Given the description of an element on the screen output the (x, y) to click on. 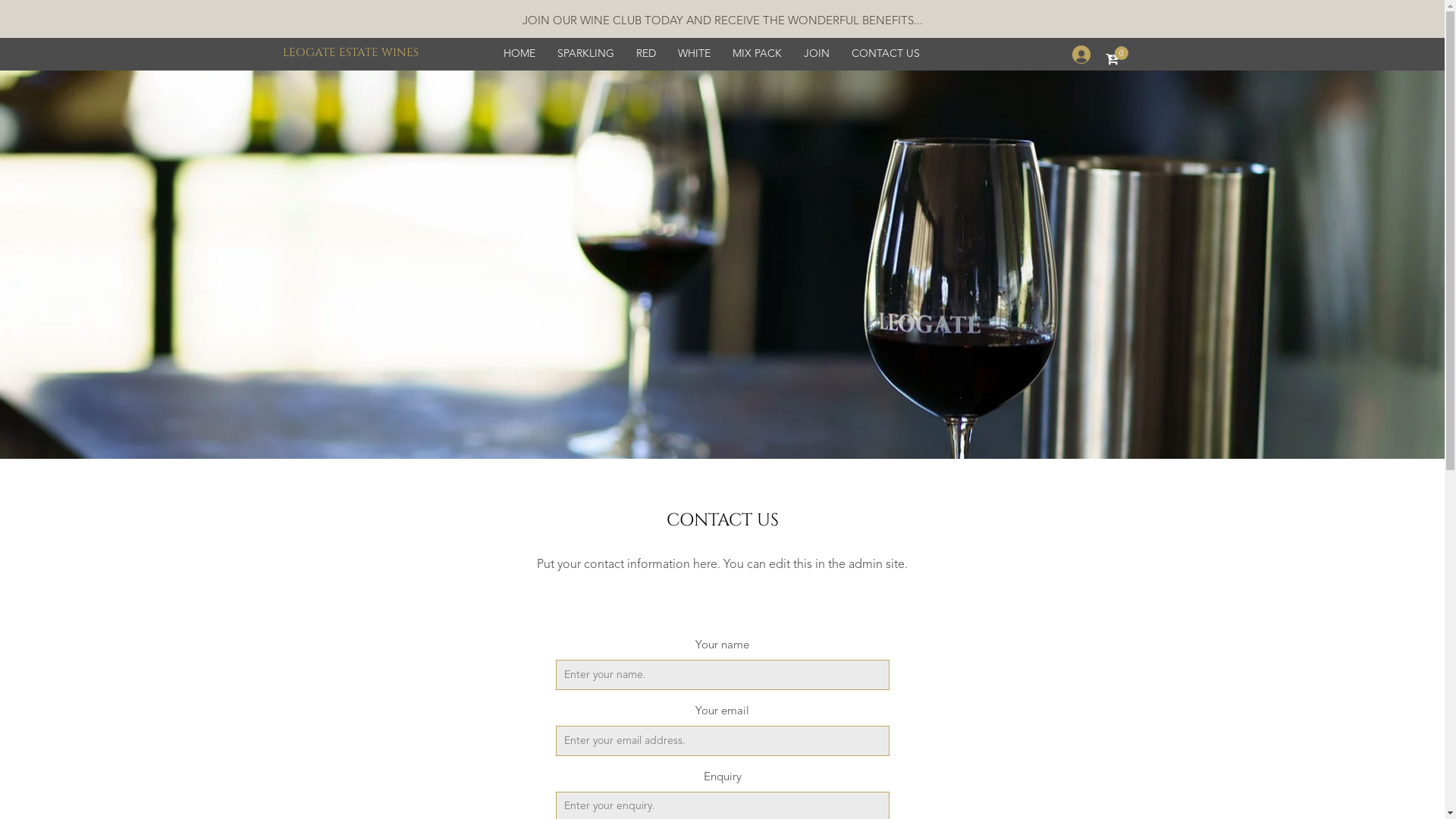
0 Element type: text (1116, 58)
WHITE Element type: text (693, 53)
CONTACT US Element type: text (885, 53)
RED Element type: text (645, 53)
JOIN Element type: text (815, 53)
HOME Element type: text (518, 53)
SPARKLING Element type: text (585, 53)
LEOGATE ESTATE WINES Element type: text (349, 52)
MIX PACK Element type: text (756, 53)
